Given the description of an element on the screen output the (x, y) to click on. 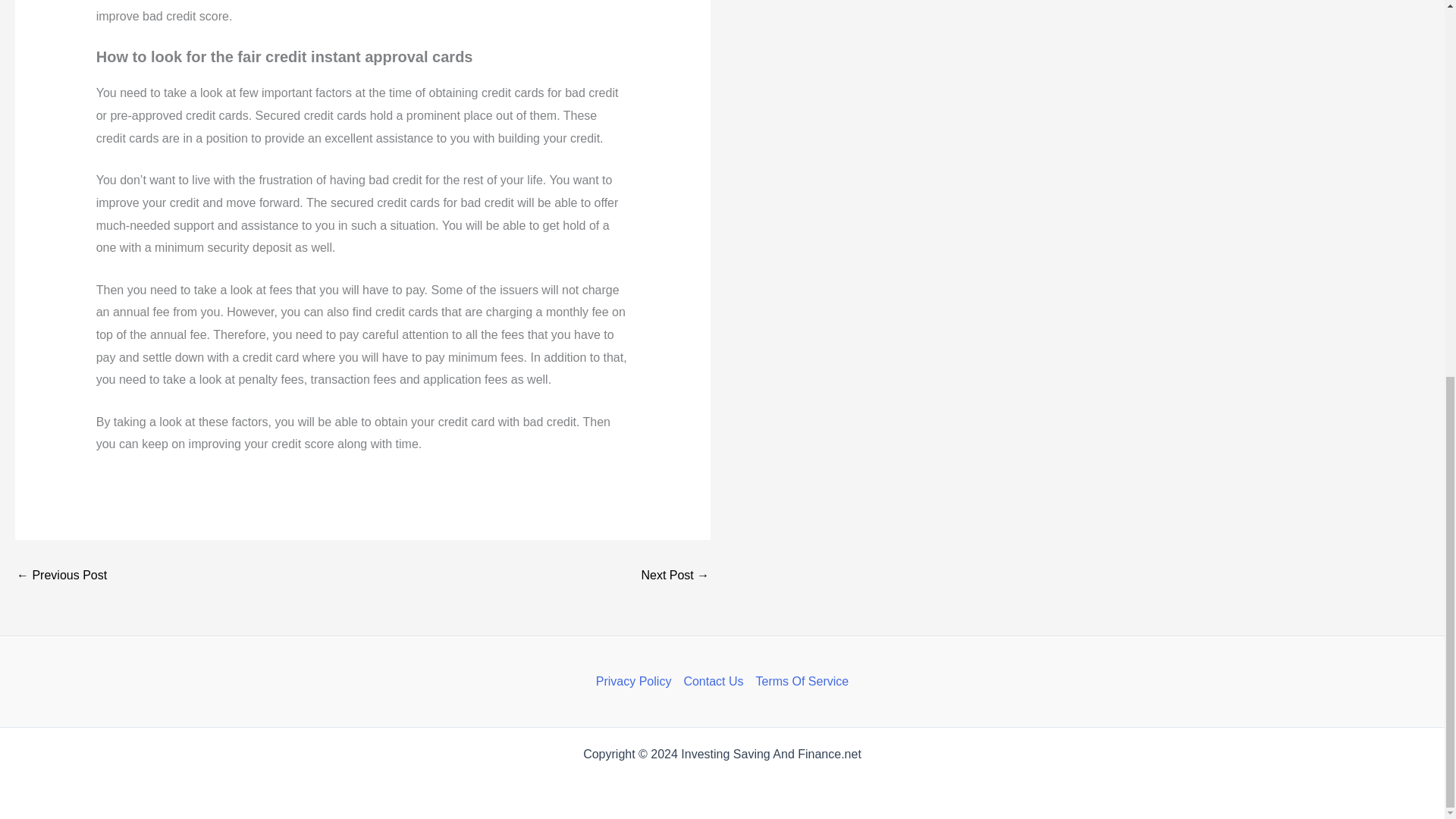
Personal Loans (674, 575)
Terms Of Service (798, 681)
Renting How To Save Money (61, 575)
Contact Us (713, 681)
Privacy Policy (636, 681)
